Given the description of an element on the screen output the (x, y) to click on. 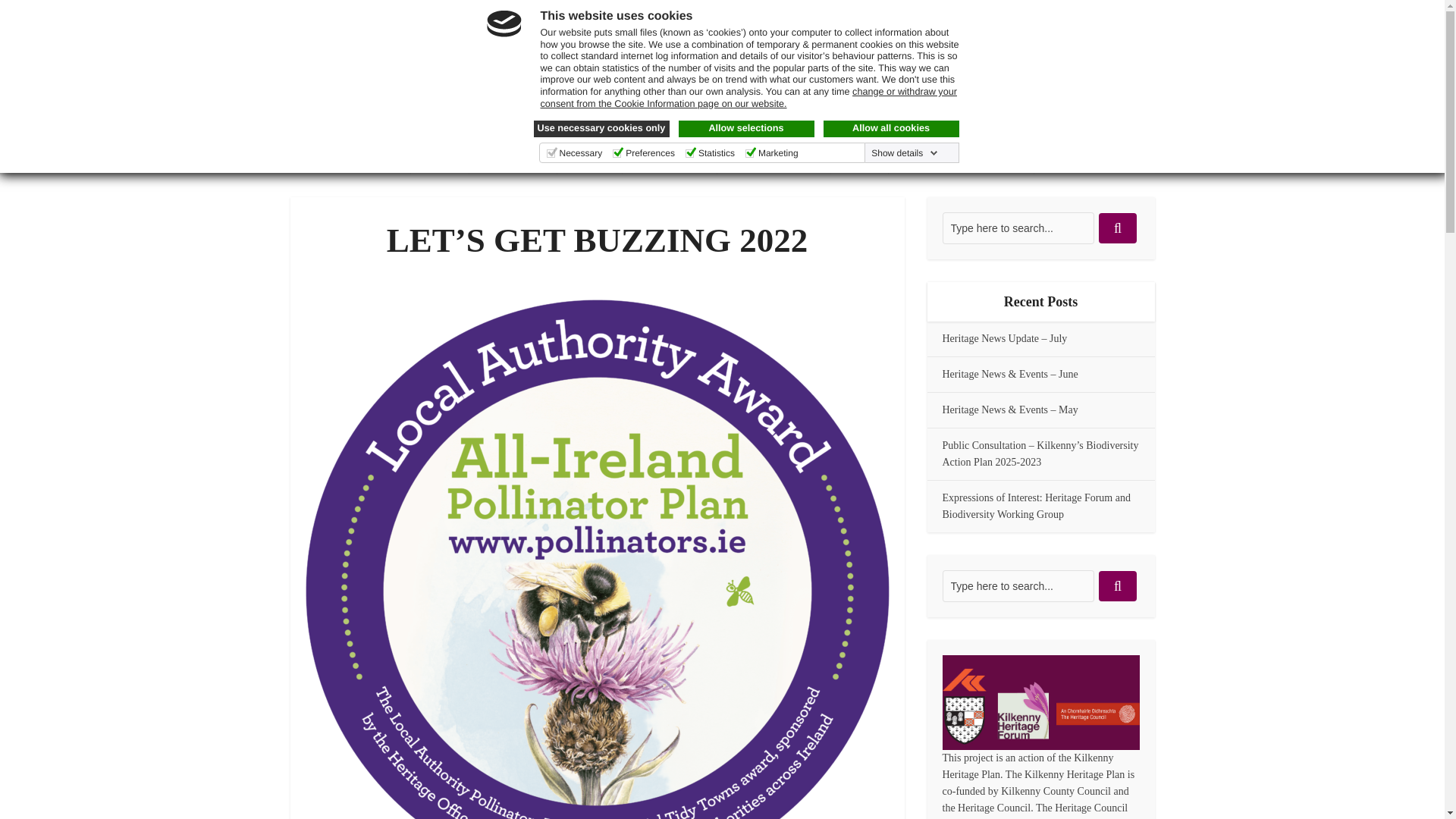
Allow selections (745, 128)
NATURAL (512, 155)
Allow all cookies (891, 128)
Type here to search... (1017, 585)
HOME (439, 155)
Type here to search... (1017, 585)
BUILT (590, 155)
Show details (903, 152)
Type here to search... (1017, 228)
Use necessary cookies only (601, 128)
Type here to search... (1017, 228)
